Given the description of an element on the screen output the (x, y) to click on. 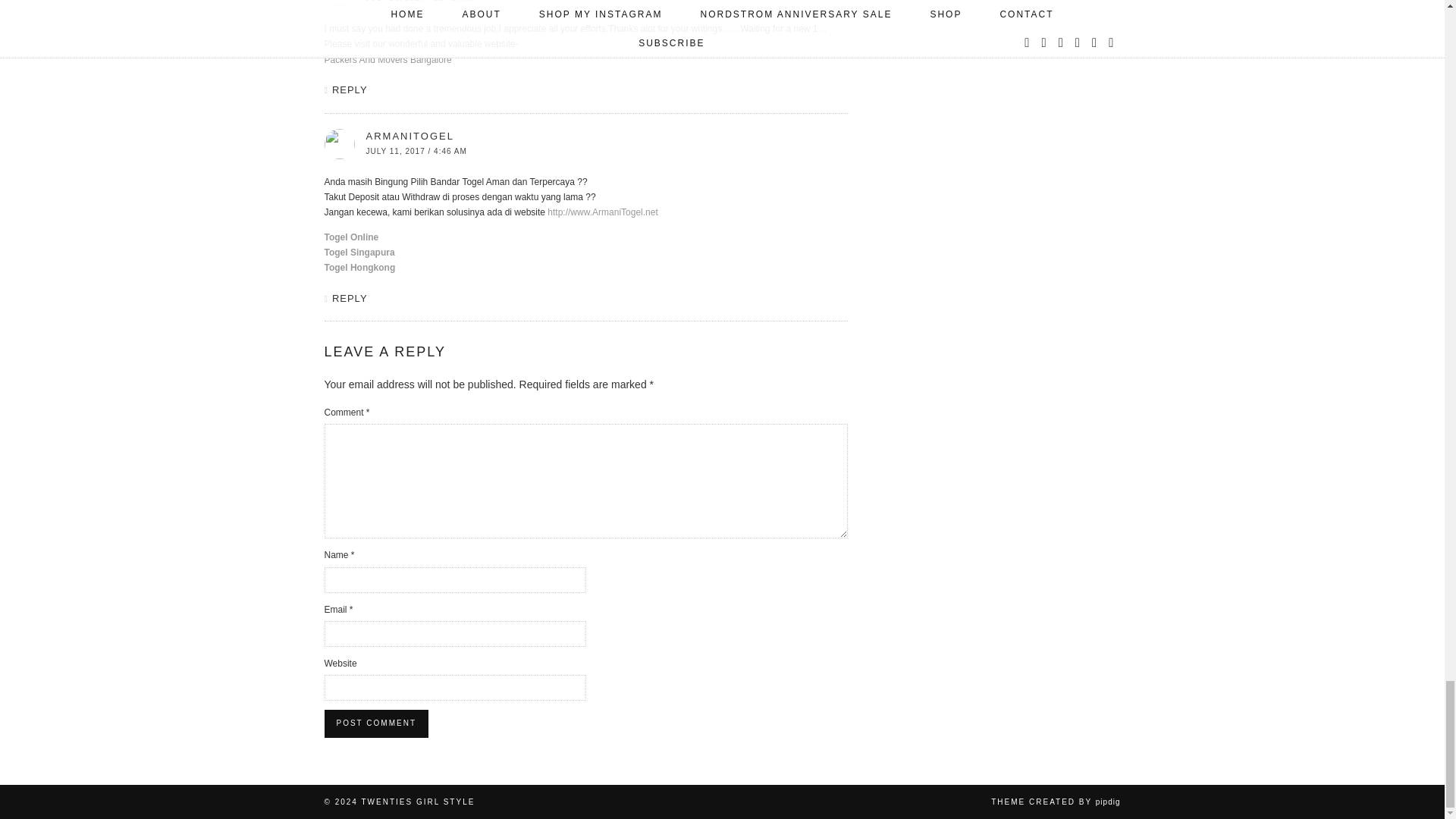
Post Comment (376, 723)
